Given the description of an element on the screen output the (x, y) to click on. 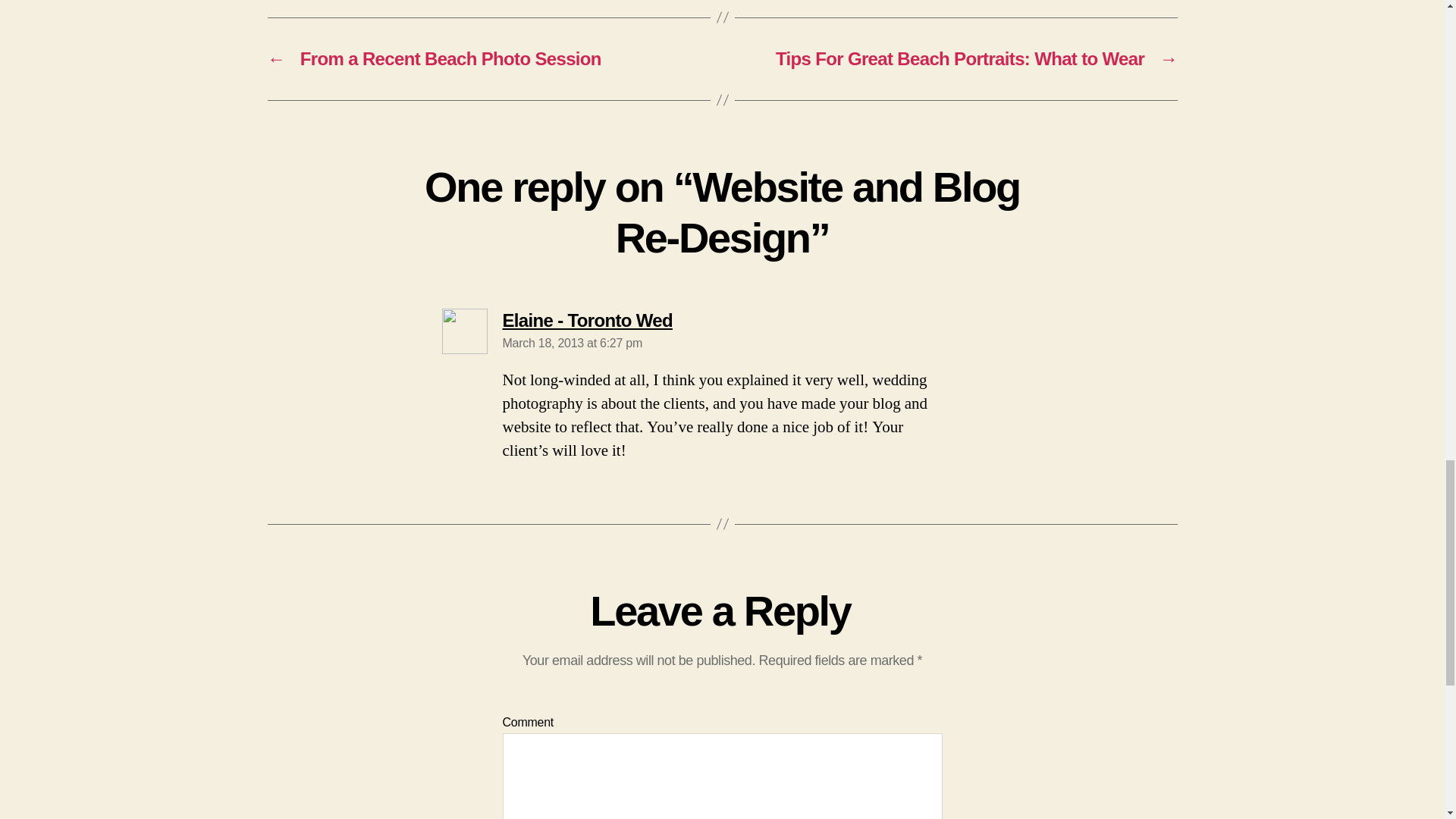
March 18, 2013 at 6:27 pm (572, 342)
March 18, 2013 at 6:27 pm (586, 320)
